Given the description of an element on the screen output the (x, y) to click on. 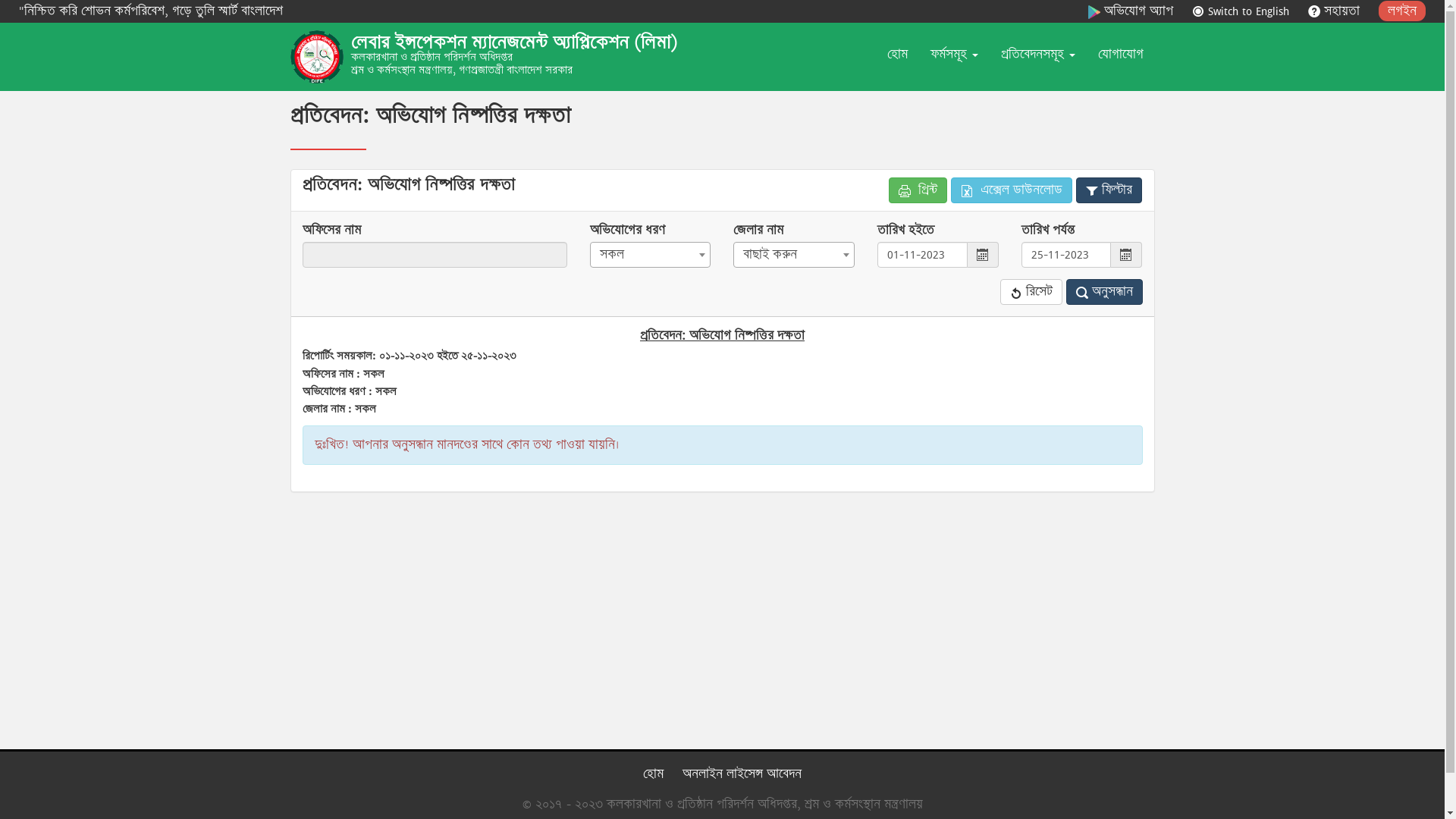
Switch to English Element type: text (1240, 10)
